Given the description of an element on the screen output the (x, y) to click on. 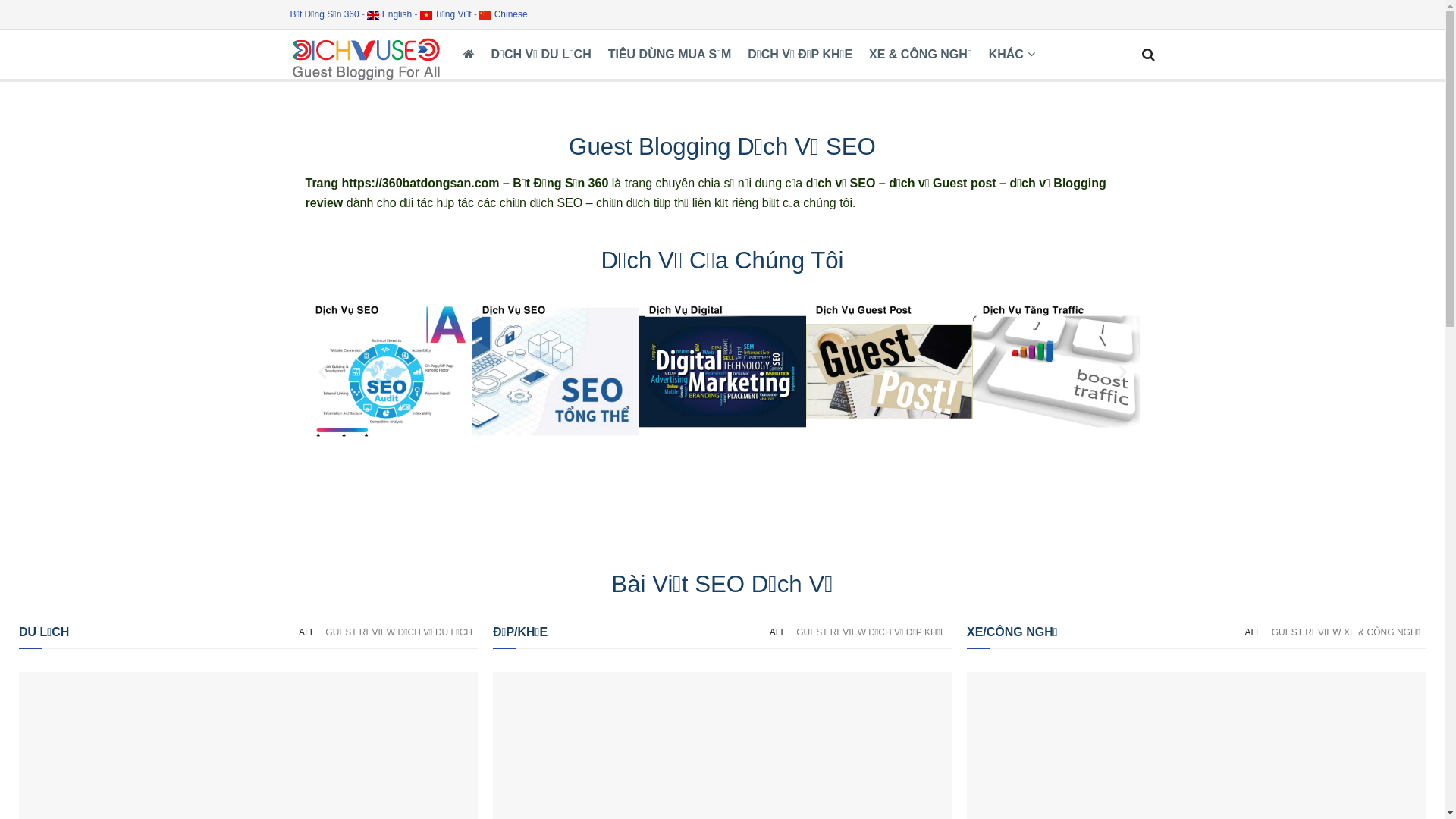
ALL Element type: text (777, 632)
Trang 4 Element type: hover (387, 371)
Trang 5 Element type: hover (554, 371)
English Element type: text (389, 14)
ALL Element type: text (306, 632)
Trang 8 Element type: hover (1055, 371)
Trang 6 Element type: hover (721, 371)
Chinese Element type: text (503, 14)
Trang 7 Element type: hover (888, 371)
ALL Element type: text (1252, 632)
